Given the description of an element on the screen output the (x, y) to click on. 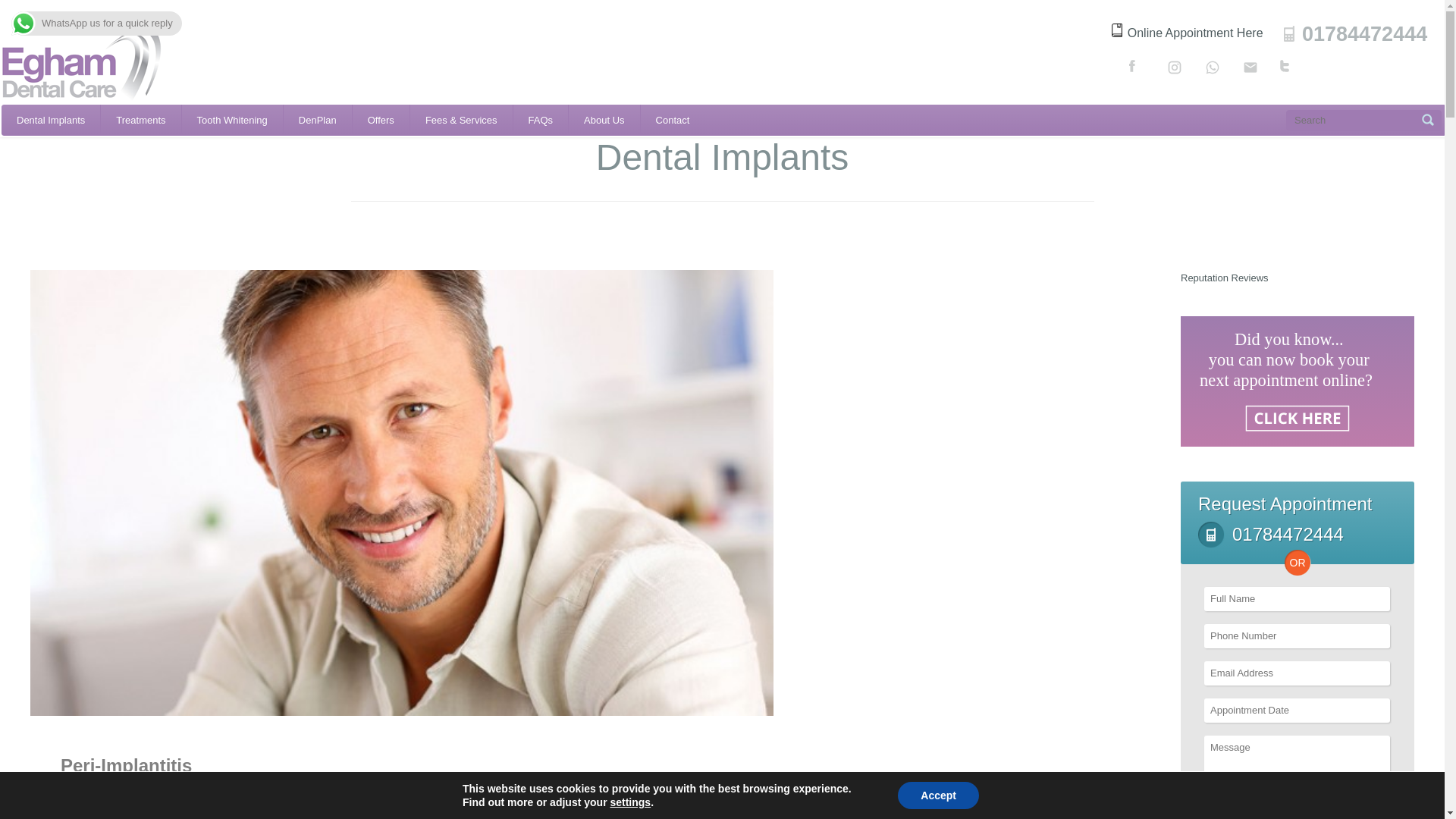
FAQs (541, 119)
DenPlan (317, 119)
Contact (672, 119)
Dental Implants (50, 119)
Offers (380, 119)
About Us (604, 119)
Treatments (140, 119)
Tooth Whitening (232, 119)
Online Appointment Here (1187, 32)
